Given the description of an element on the screen output the (x, y) to click on. 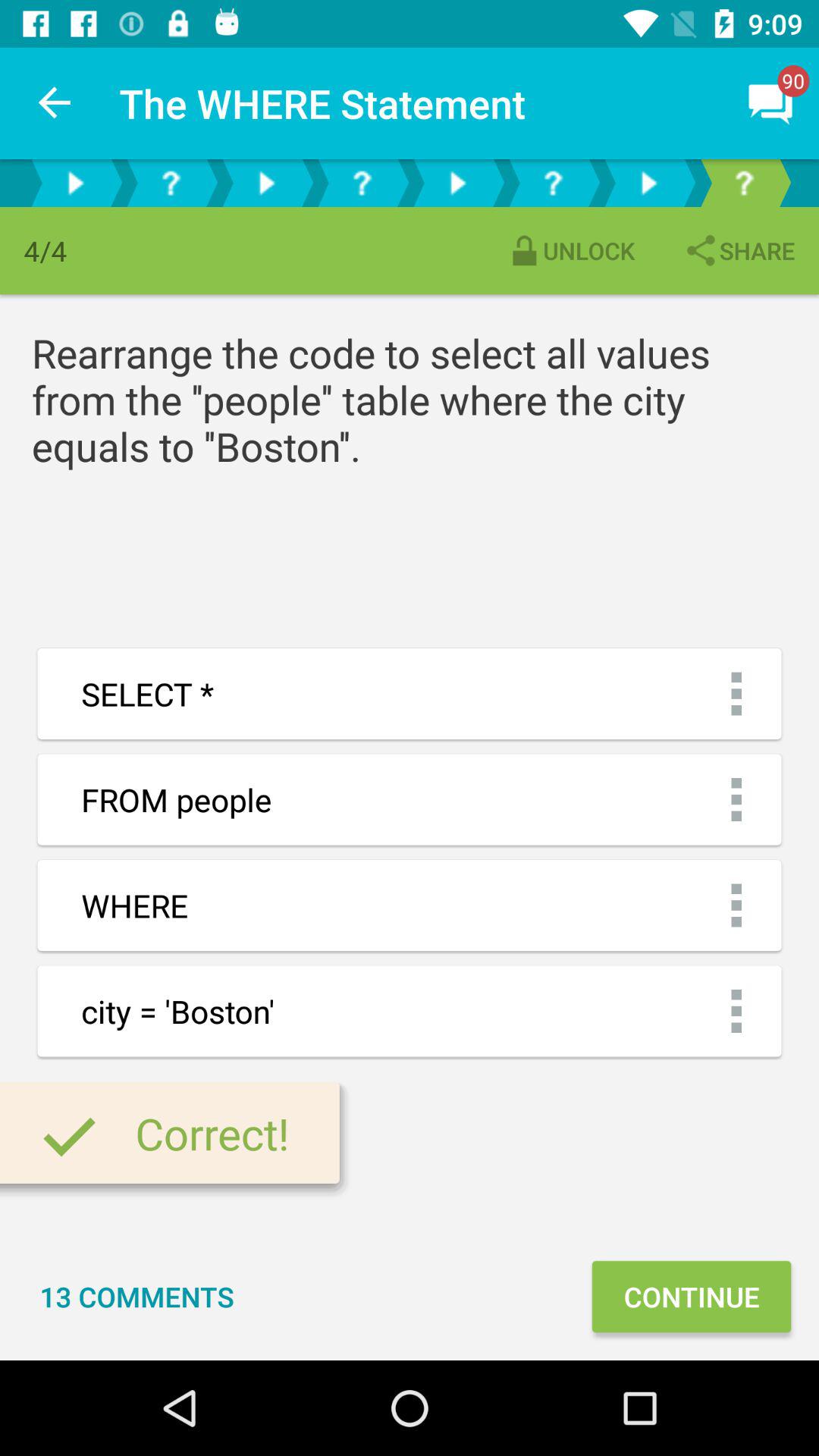
advance to next page (457, 183)
